Given the description of an element on the screen output the (x, y) to click on. 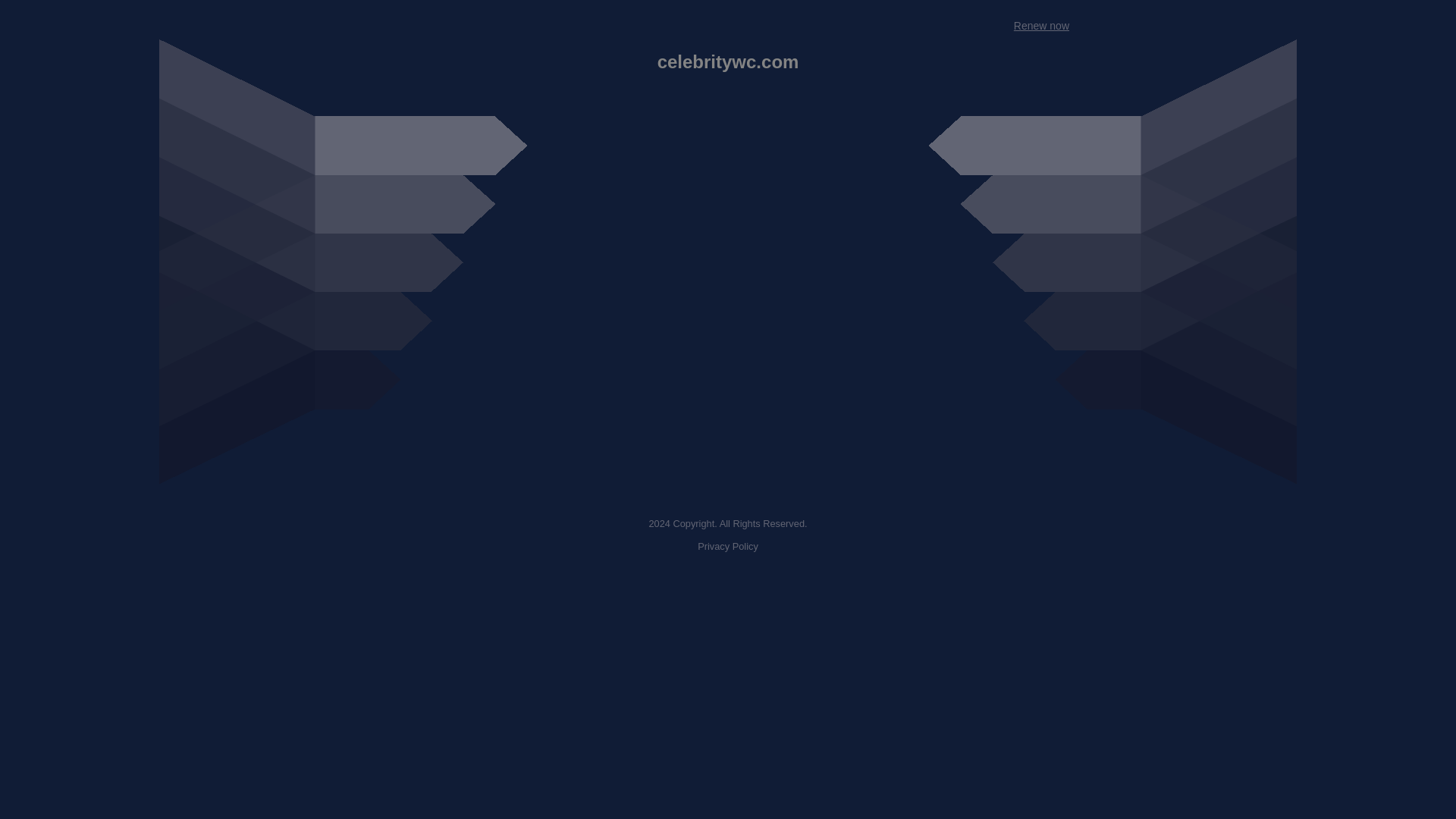
Renew now (1040, 25)
Privacy Policy (727, 546)
